Given the description of an element on the screen output the (x, y) to click on. 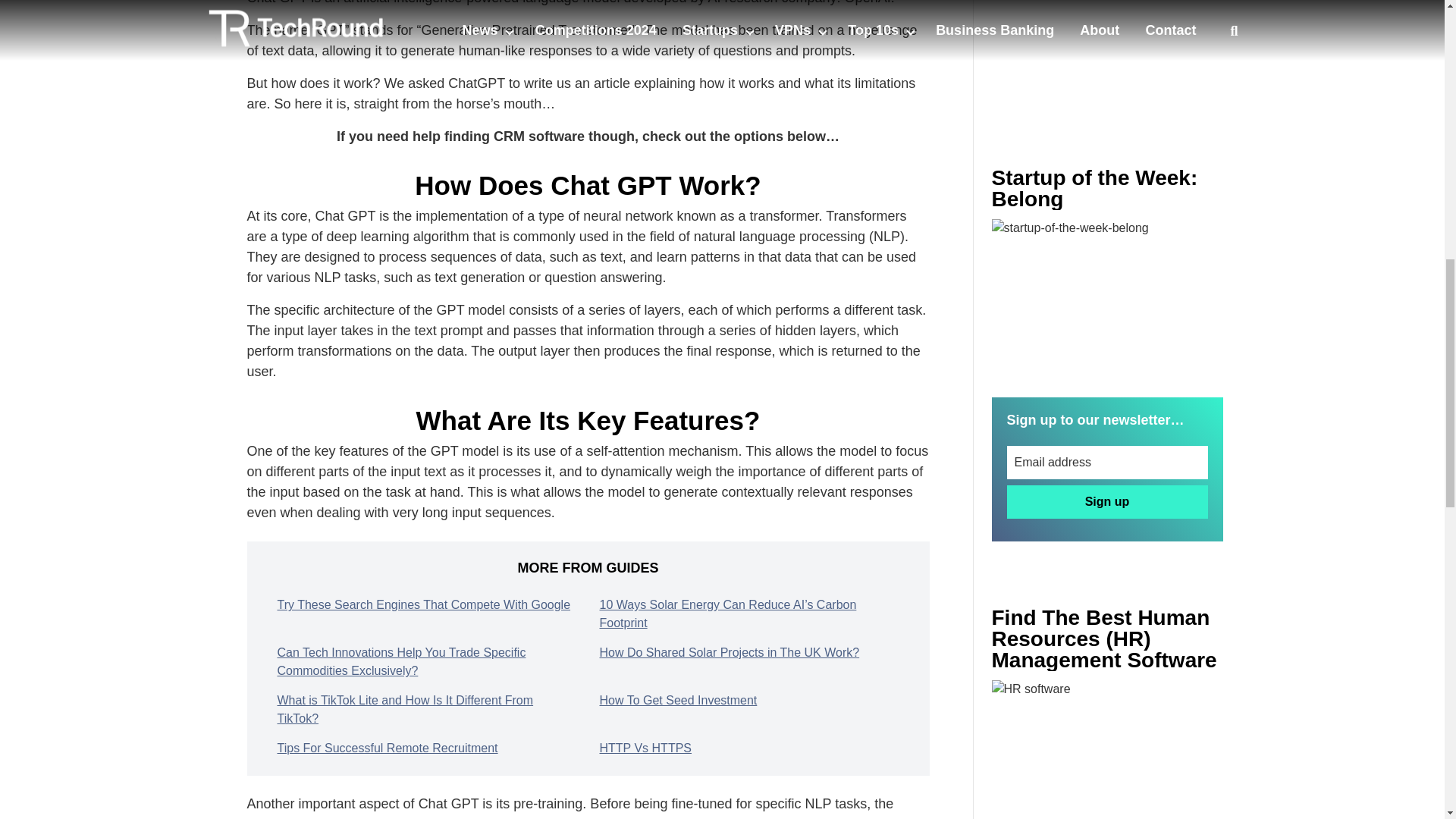
Share on Facebook (275, 548)
Save to Pinterest (506, 548)
Share on LinkedIn (623, 548)
Share on X (390, 548)
